Given the description of an element on the screen output the (x, y) to click on. 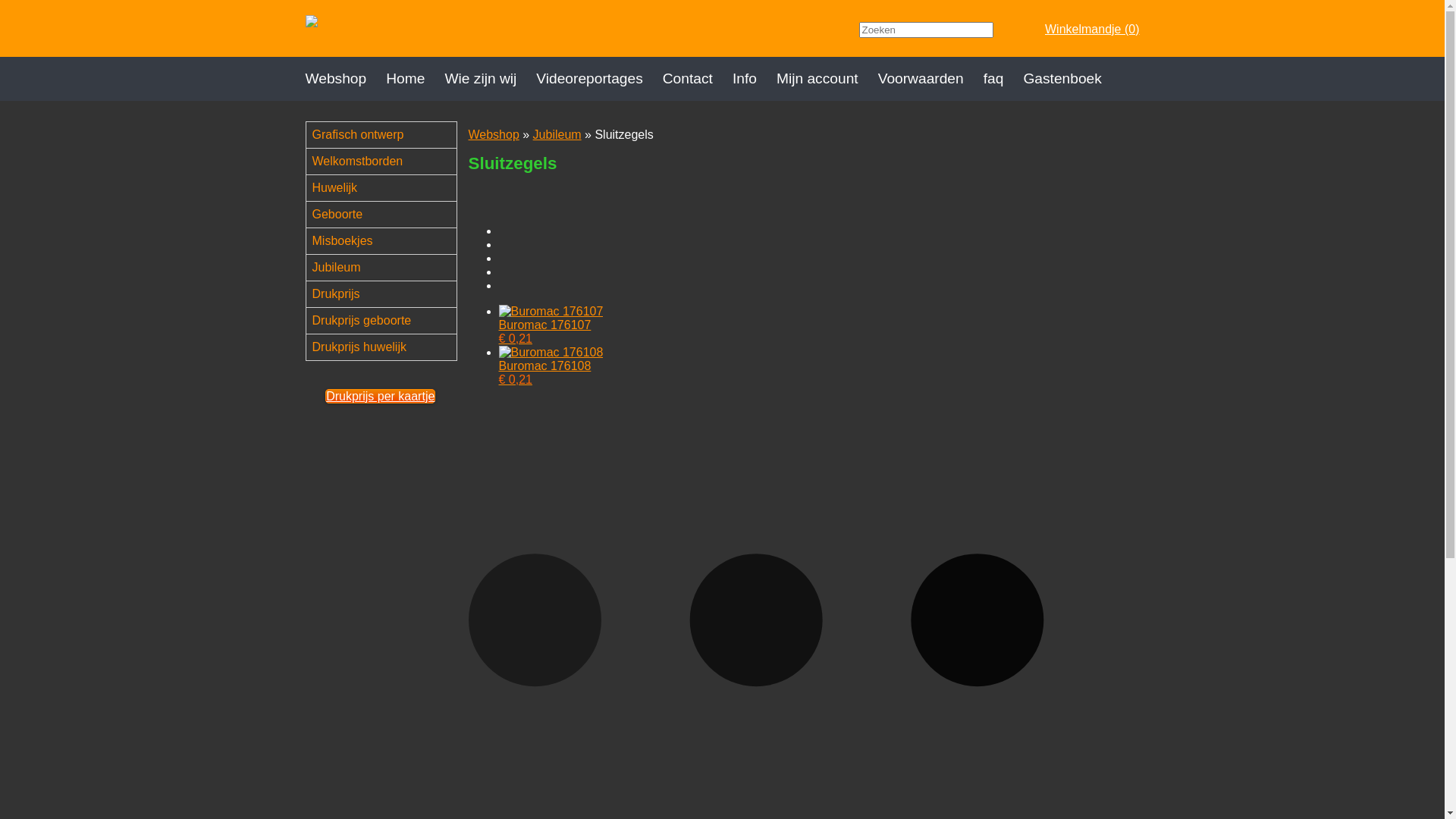
Drukprijs Element type: text (387, 294)
Jubileum Element type: text (387, 267)
WinkelmandjeWinkelmandje (0) Element type: text (1082, 28)
Info Element type: text (754, 78)
Huwelijk Element type: text (387, 187)
Drukprijs geboorte Element type: text (387, 320)
Grafisch ontwerp Element type: text (387, 134)
Jubileum Element type: text (557, 134)
Welkomstborden Element type: text (387, 161)
Home Element type: text (414, 78)
Drukprijs huwelijk Element type: text (387, 347)
Gastenboek Element type: text (1071, 78)
faq Element type: text (1003, 78)
Wie zijn wij Element type: text (490, 78)
Misboekjes Element type: text (387, 241)
Webshop Element type: text (493, 134)
Webshop Element type: text (344, 78)
Mijn account Element type: text (827, 78)
Contact Element type: text (697, 78)
Drukprijs per kaartje Element type: text (380, 396)
Voorwaarden Element type: text (930, 78)
Videoreportages Element type: text (599, 78)
Geboorte Element type: text (387, 214)
